Given the description of an element on the screen output the (x, y) to click on. 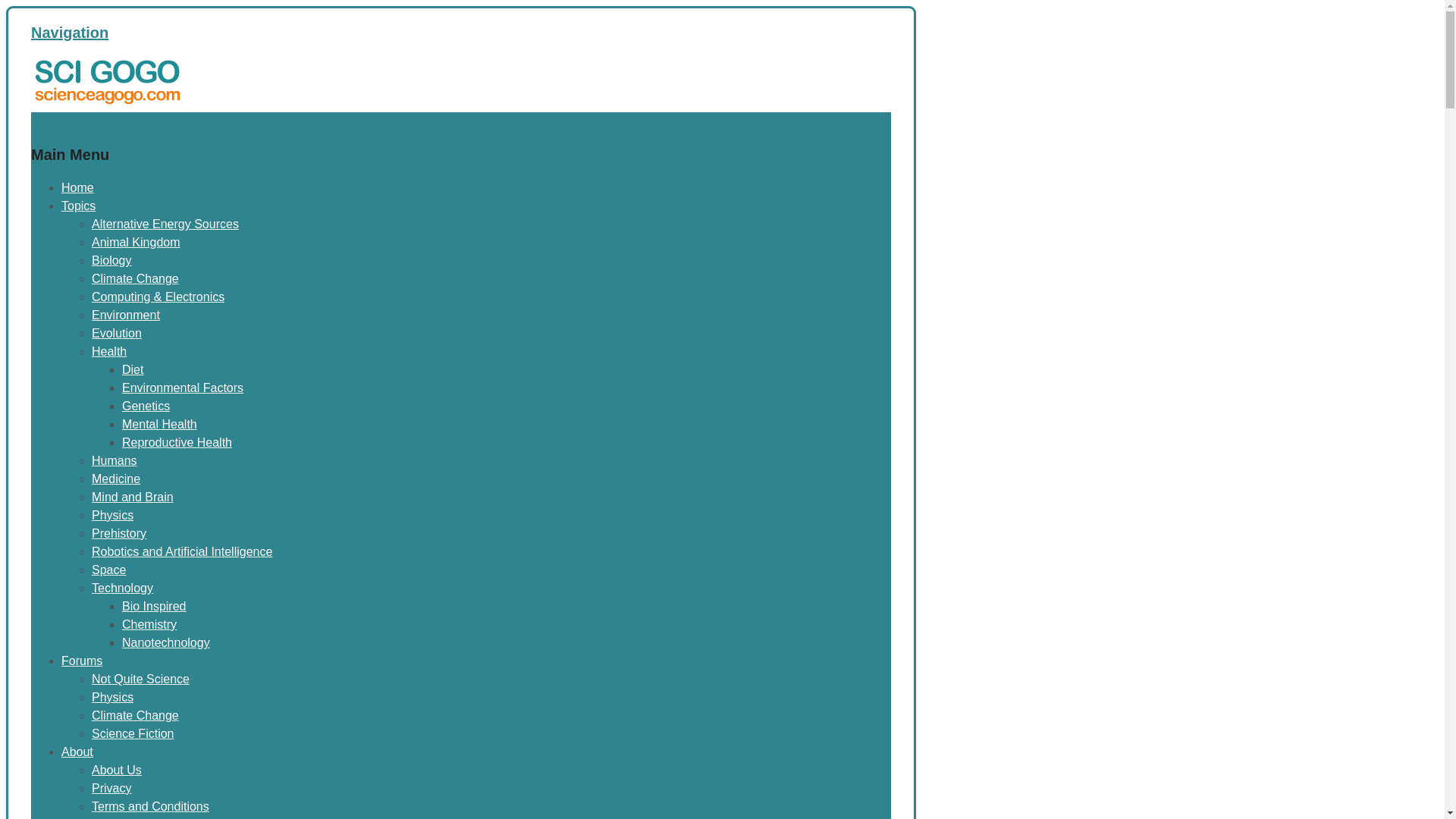
Bio Inspired (154, 605)
Interesting Science News and Discussion (106, 102)
Forums (81, 660)
Physics (112, 514)
Biology (111, 259)
Not Quite Science (140, 678)
Topics (78, 205)
Terms and Conditions (150, 806)
Environment (125, 314)
Alternative Energy Sources (164, 223)
Climate Change (135, 715)
Technology (121, 587)
Mind and Brain (132, 496)
Physics (112, 697)
Home (47, 120)
